Given the description of an element on the screen output the (x, y) to click on. 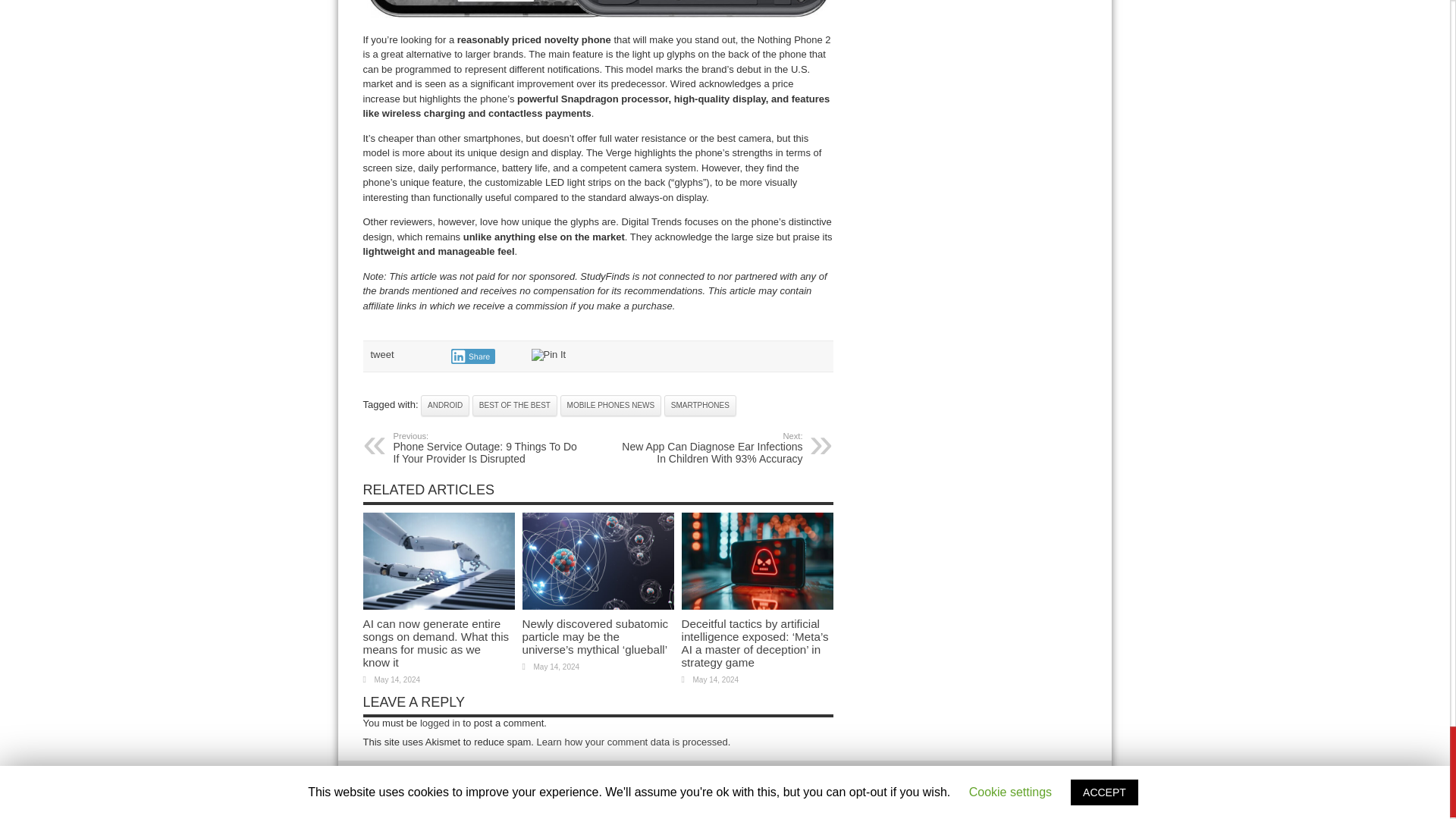
ANDROID (444, 405)
tweet (381, 354)
SMARTPHONES (699, 405)
Share (472, 355)
BEST OF THE BEST (514, 405)
logged in (440, 722)
Learn how your comment data is processed (632, 741)
MOBILE PHONES NEWS (611, 405)
Pin It (548, 354)
